Given the description of an element on the screen output the (x, y) to click on. 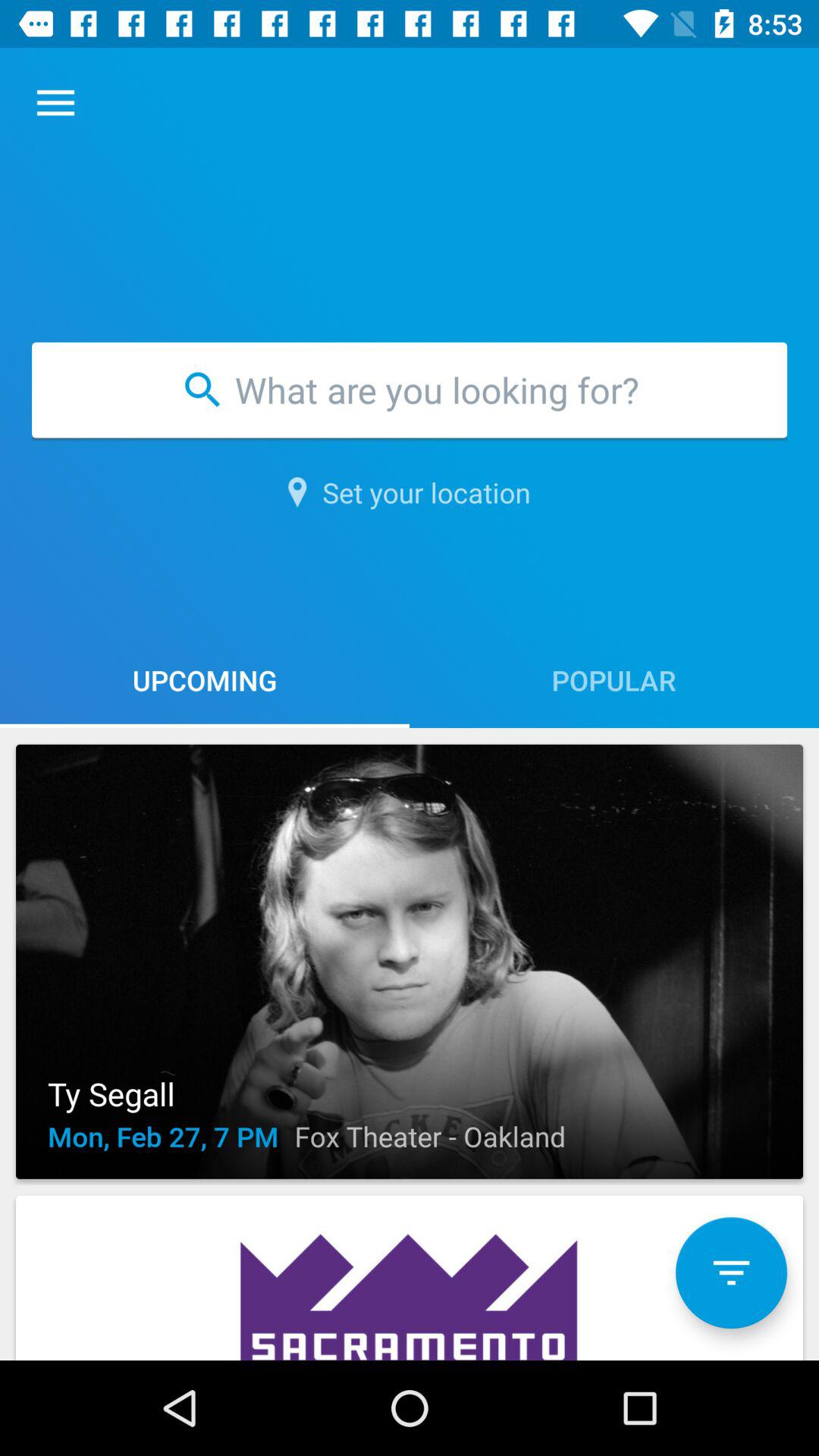
scroll to set your location (409, 492)
